Given the description of an element on the screen output the (x, y) to click on. 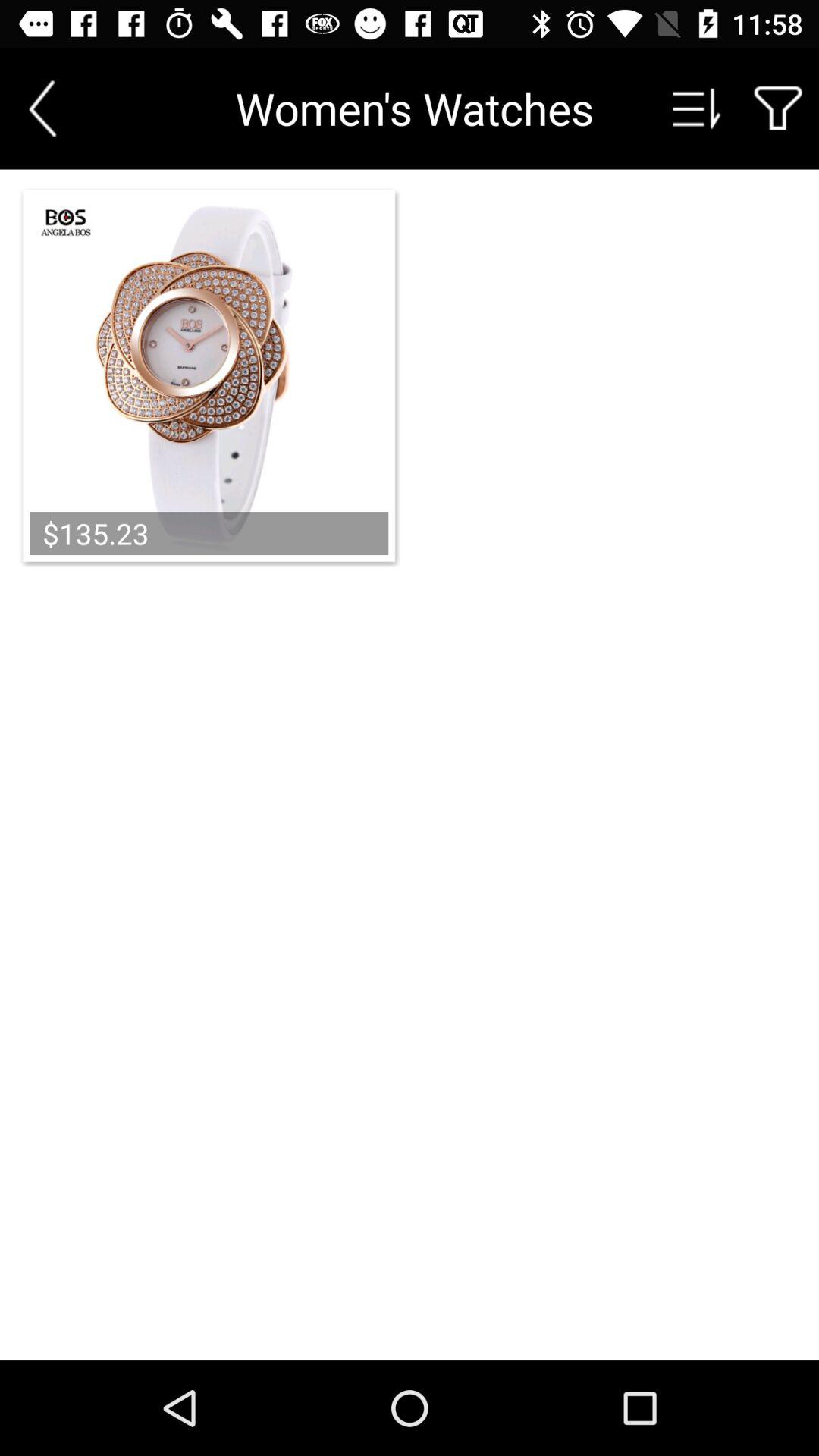
go to previous (42, 108)
